Given the description of an element on the screen output the (x, y) to click on. 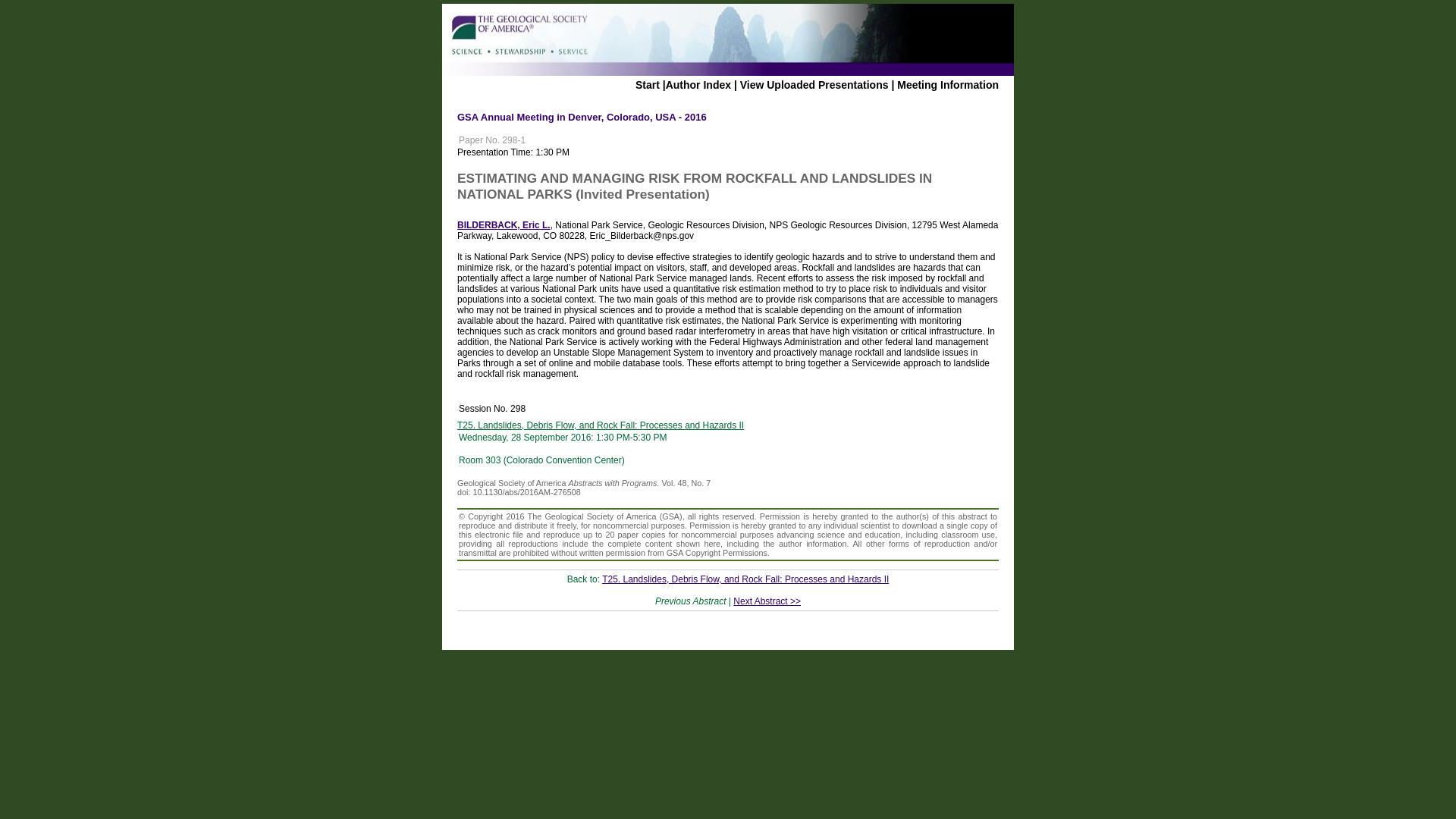
Author Index (697, 84)
Meeting Information (947, 84)
BILDERBACK, Eric L. (503, 225)
View Uploaded Presentations (813, 84)
Start (646, 84)
